Given the description of an element on the screen output the (x, y) to click on. 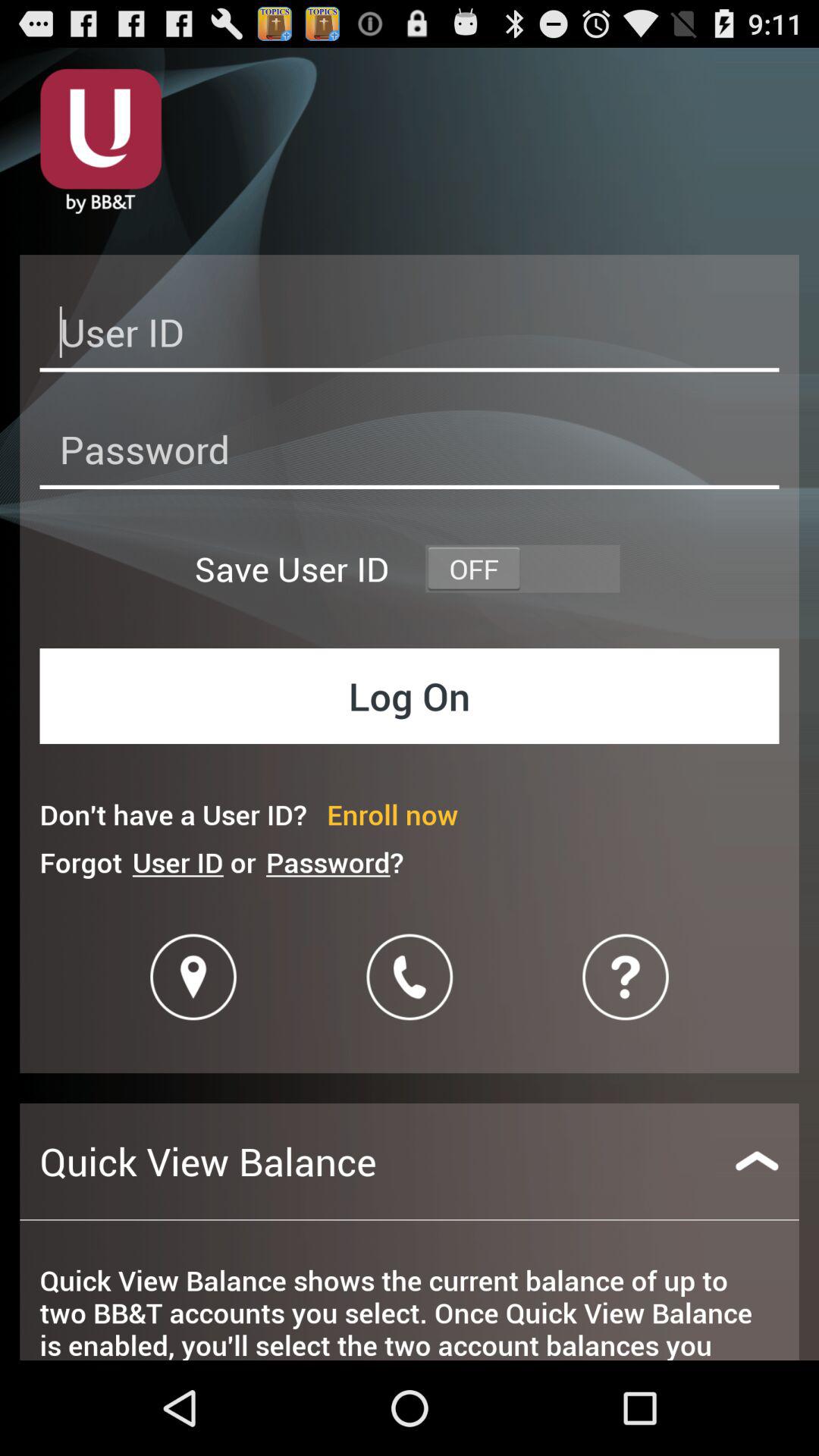
turn off icon above password? (392, 814)
